Given the description of an element on the screen output the (x, y) to click on. 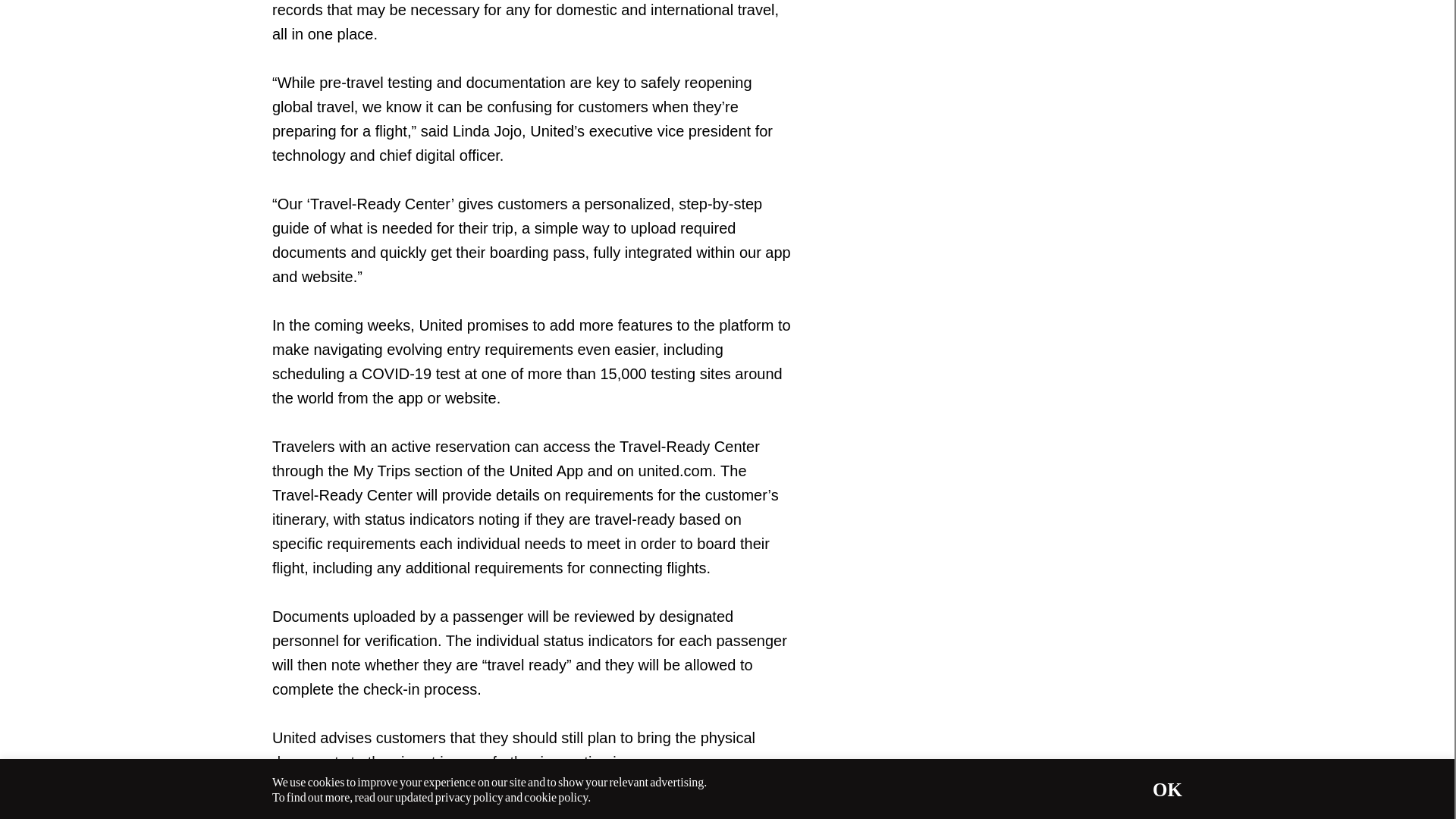
3rd party ad content (1068, 54)
